Given the description of an element on the screen output the (x, y) to click on. 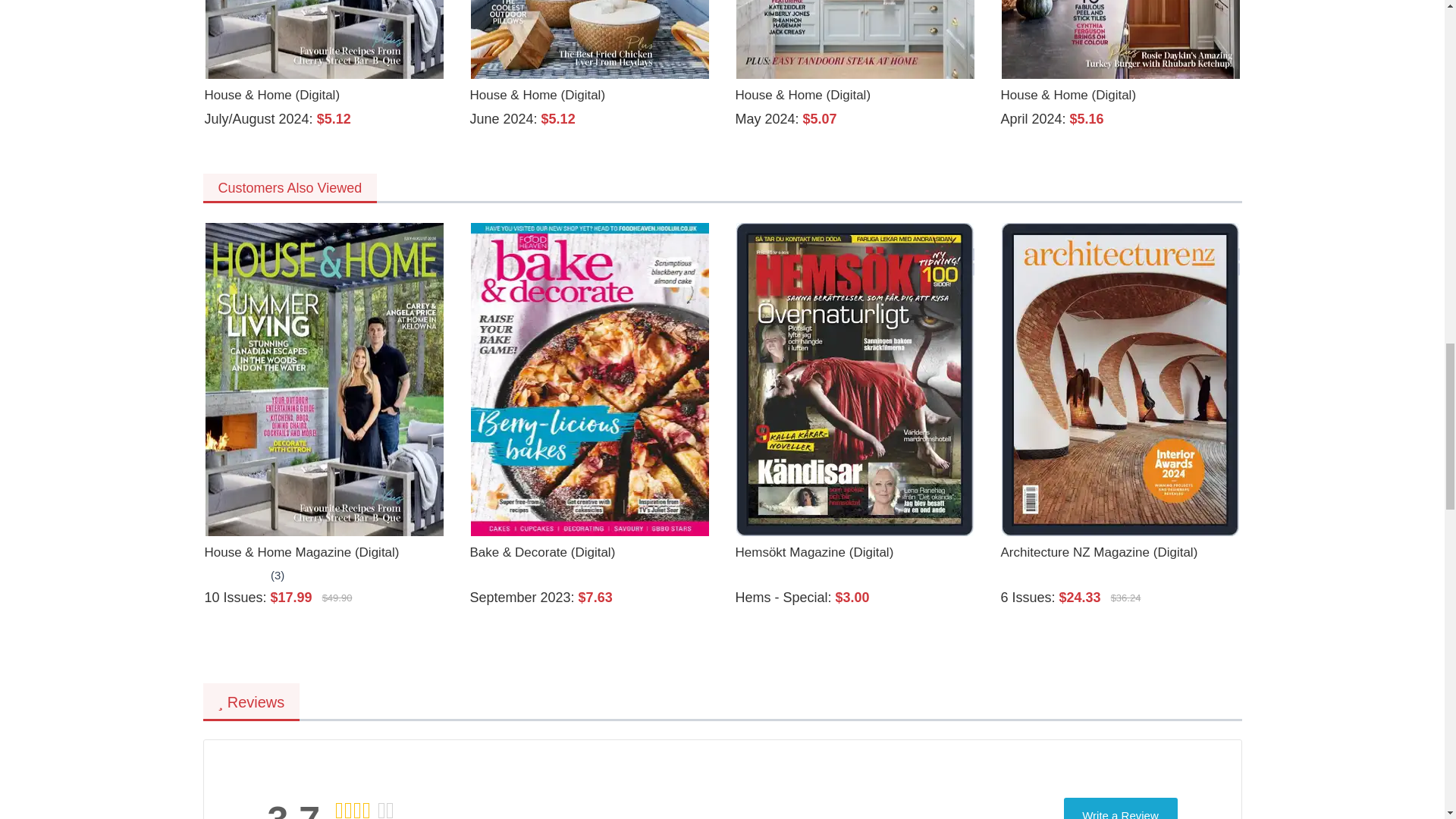
3.7 star rating (364, 809)
